Given the description of an element on the screen output the (x, y) to click on. 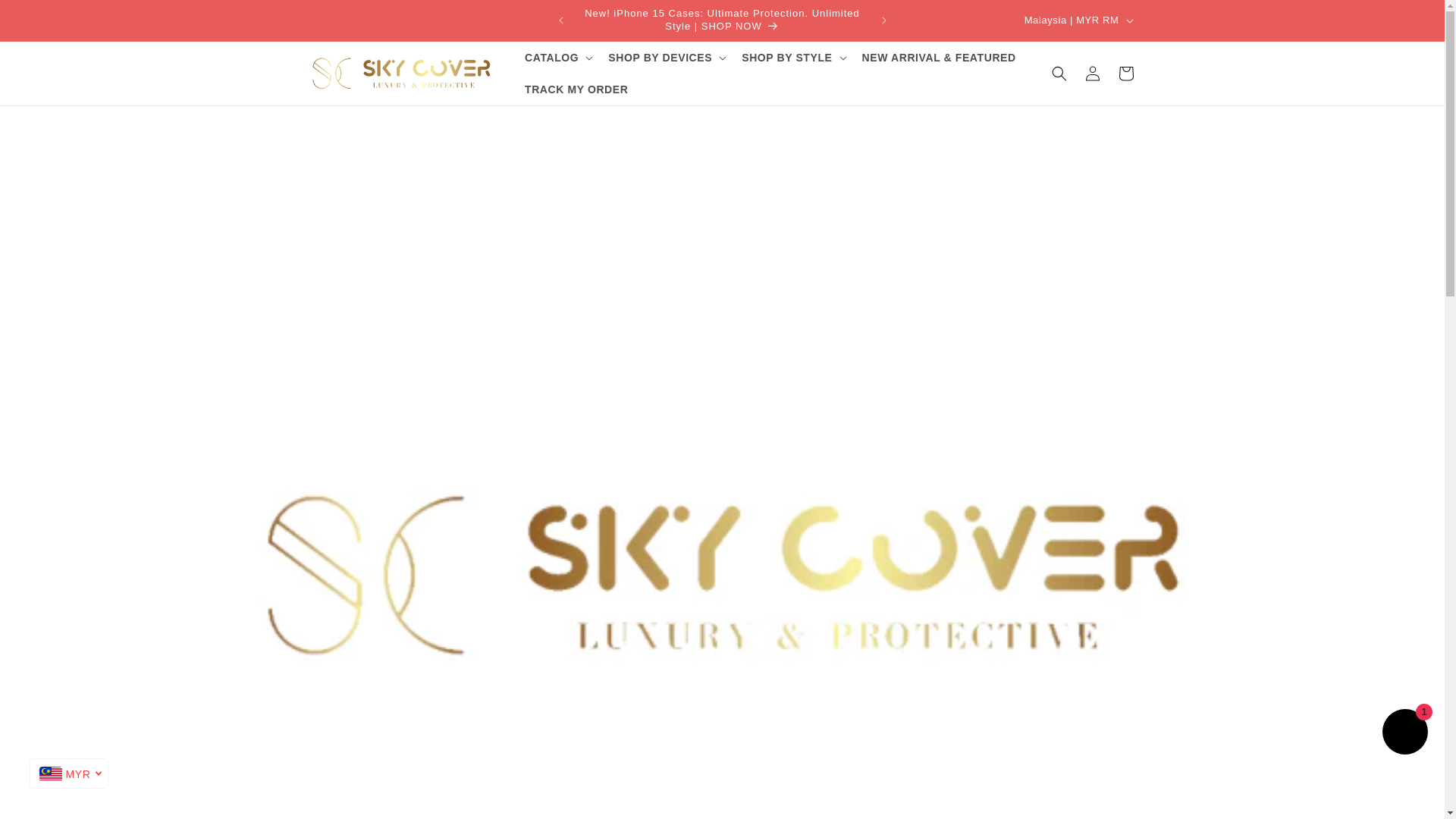
Shopify online store chat (1404, 733)
Skip to content (45, 17)
